Given the description of an element on the screen output the (x, y) to click on. 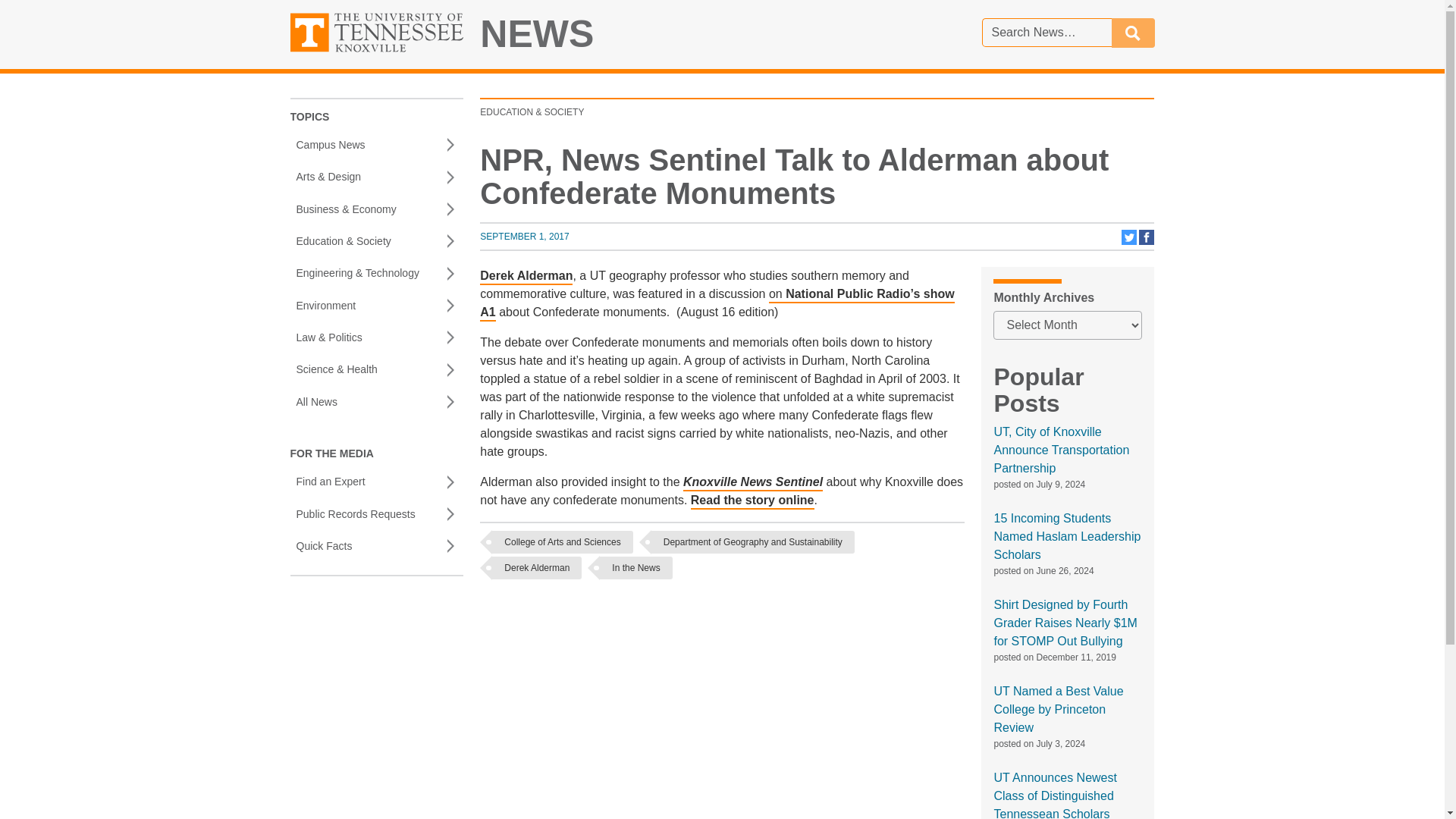
Campus News (376, 144)
UT, City of Knoxville Announce Transportation Partnership (1060, 450)
Department of Geography and Sustainability (752, 541)
Derek Alderman (536, 567)
Share on Twitter. (1129, 241)
All News (376, 401)
Public Records Requests (376, 513)
Quick Facts (376, 545)
Find an Expert (376, 481)
NEWS (537, 34)
College of Arts and Sciences (561, 541)
Environment (524, 235)
Share on Facebook. (376, 305)
